Given the description of an element on the screen output the (x, y) to click on. 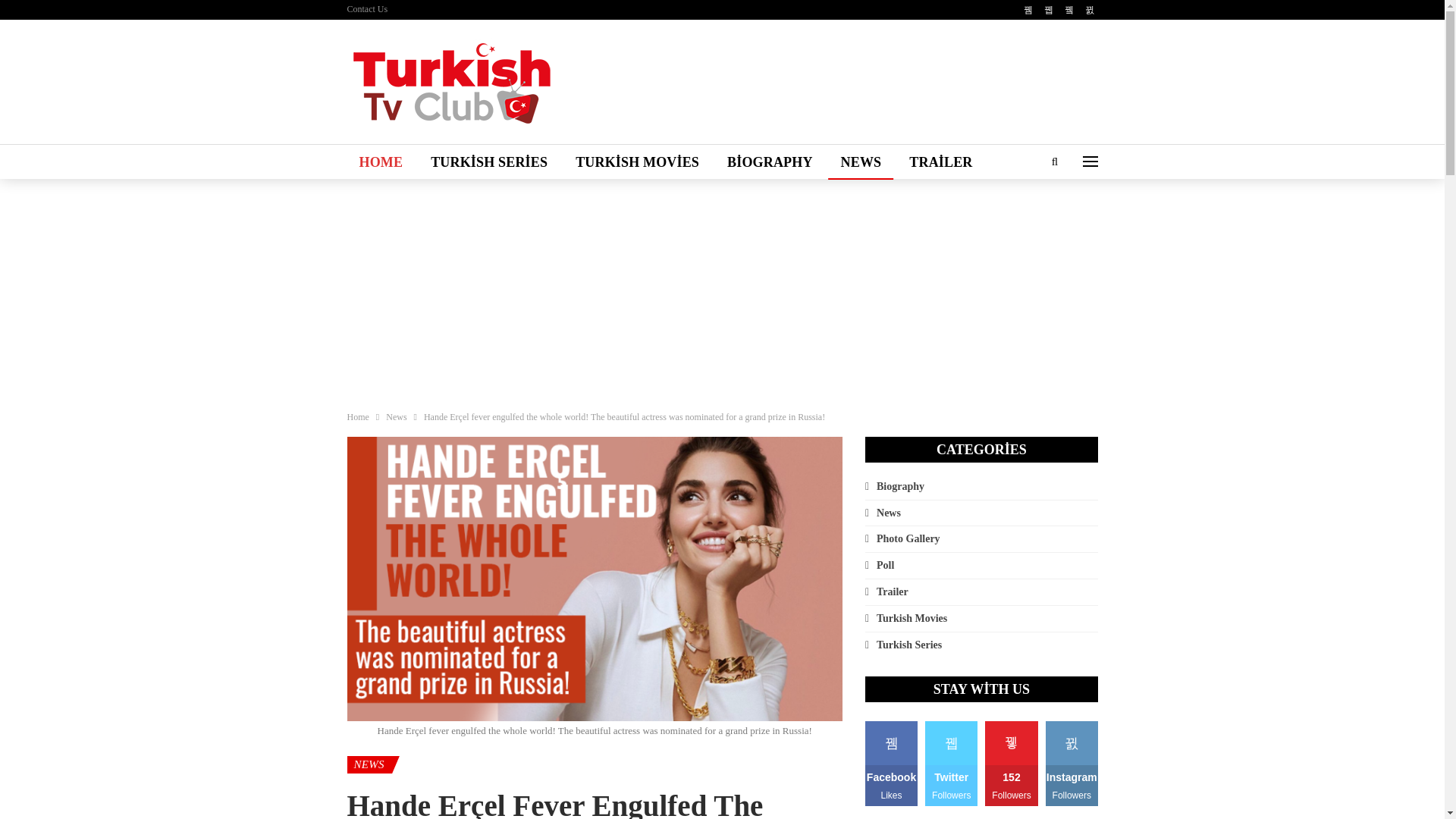
Contact Us (367, 9)
TURKISH SERIES (489, 162)
TRAILER (940, 162)
NEWS (860, 162)
HOME (380, 162)
NEWS (369, 764)
BIOGRAPHY (769, 162)
TURKISH MOVIES (637, 162)
News (395, 416)
